Given the description of an element on the screen output the (x, y) to click on. 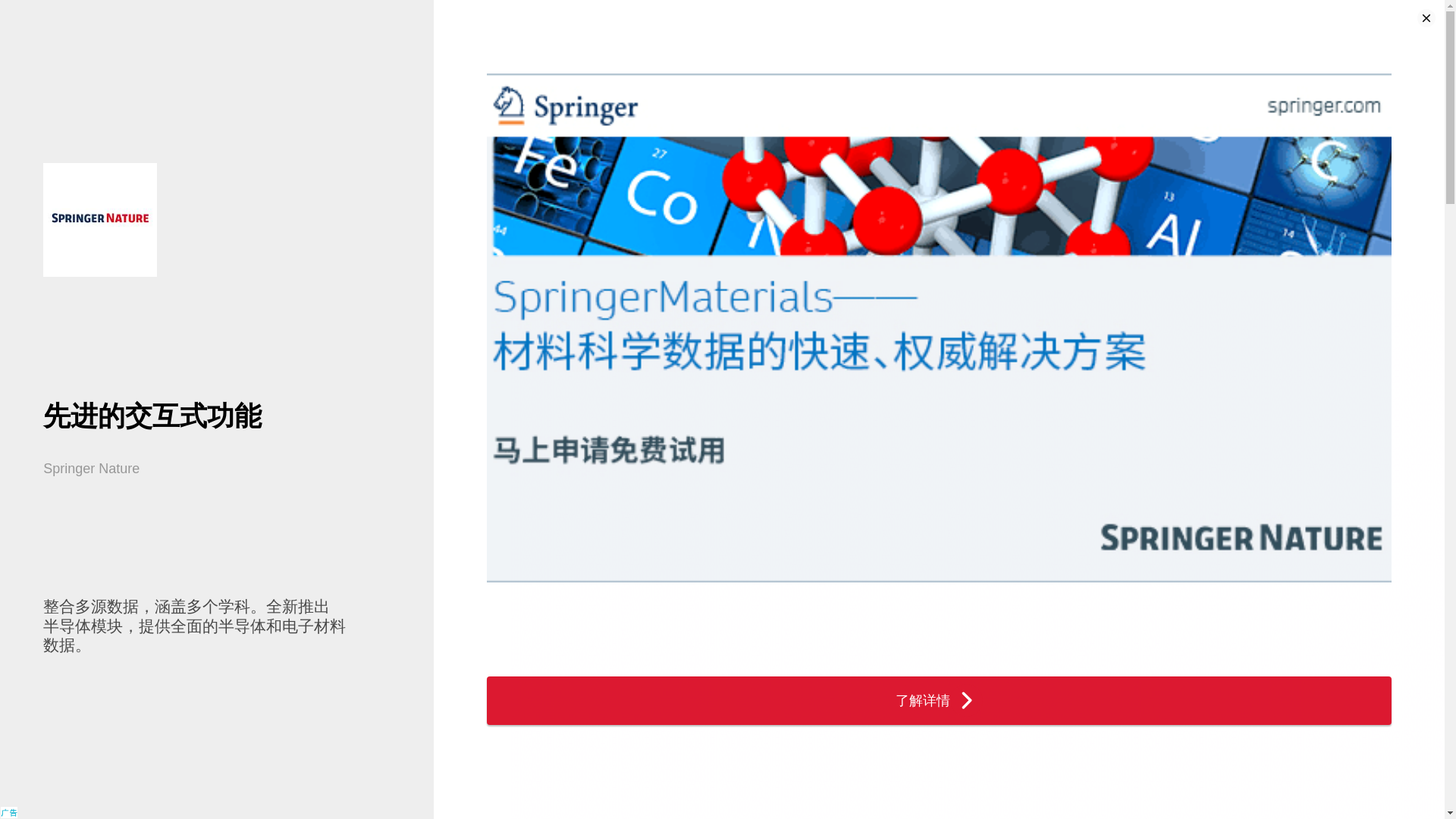
Income Tax Related Information (380, 15)
Budget (439, 15)
Service Tax (498, 15)
Company Law (572, 15)
Service Tax Article News Notifications Judgments (498, 15)
Union Budget 2024 Article News Notifications (439, 15)
Customs (687, 15)
Excise (636, 15)
Income Tax (380, 15)
